Given the description of an element on the screen output the (x, y) to click on. 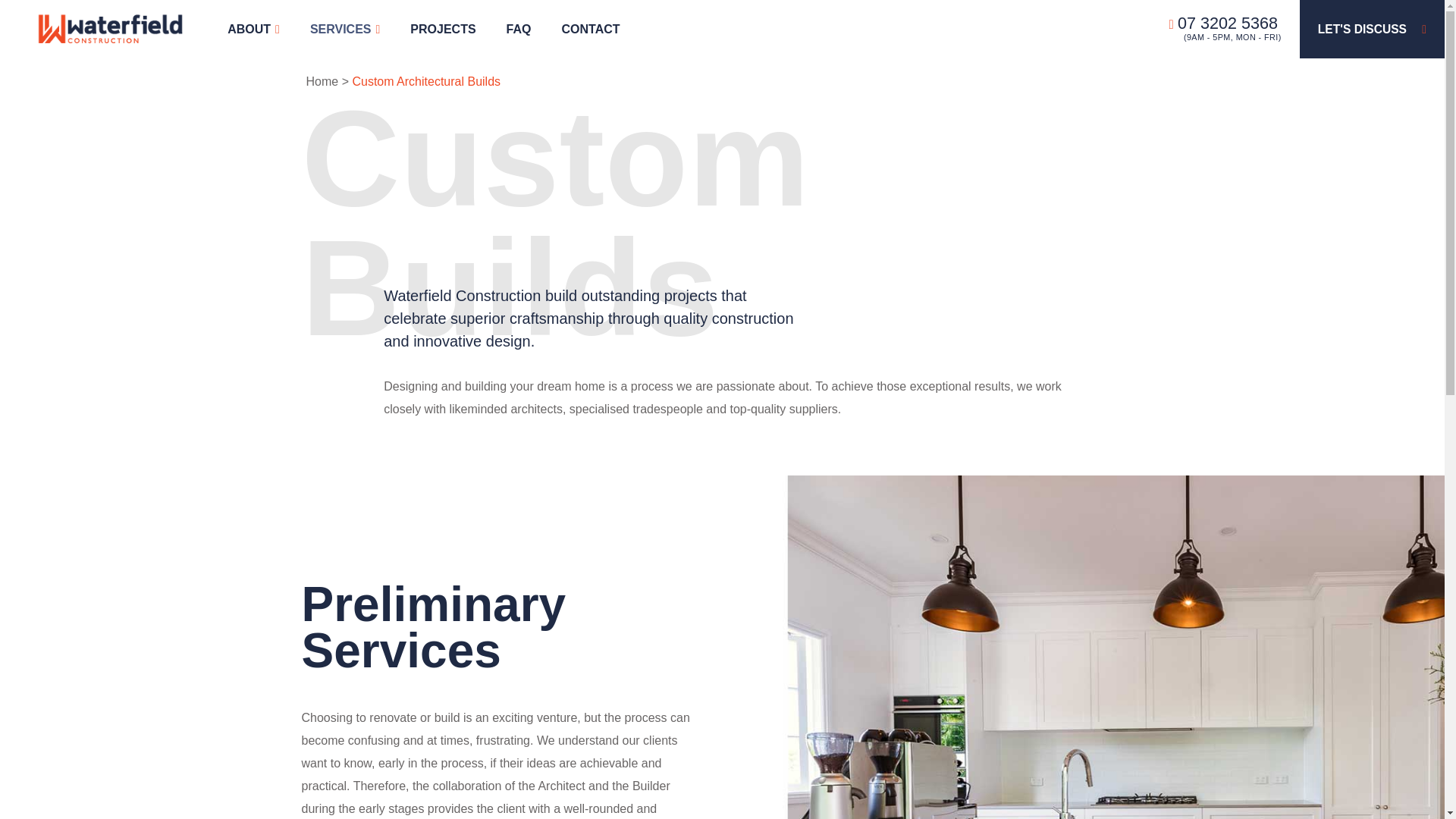
ABOUT (252, 28)
CONTACT (590, 28)
Home (322, 81)
SERVICES (344, 28)
FAQ (518, 28)
PROJECTS (443, 28)
07 3202 5368 (1223, 22)
